Given the description of an element on the screen output the (x, y) to click on. 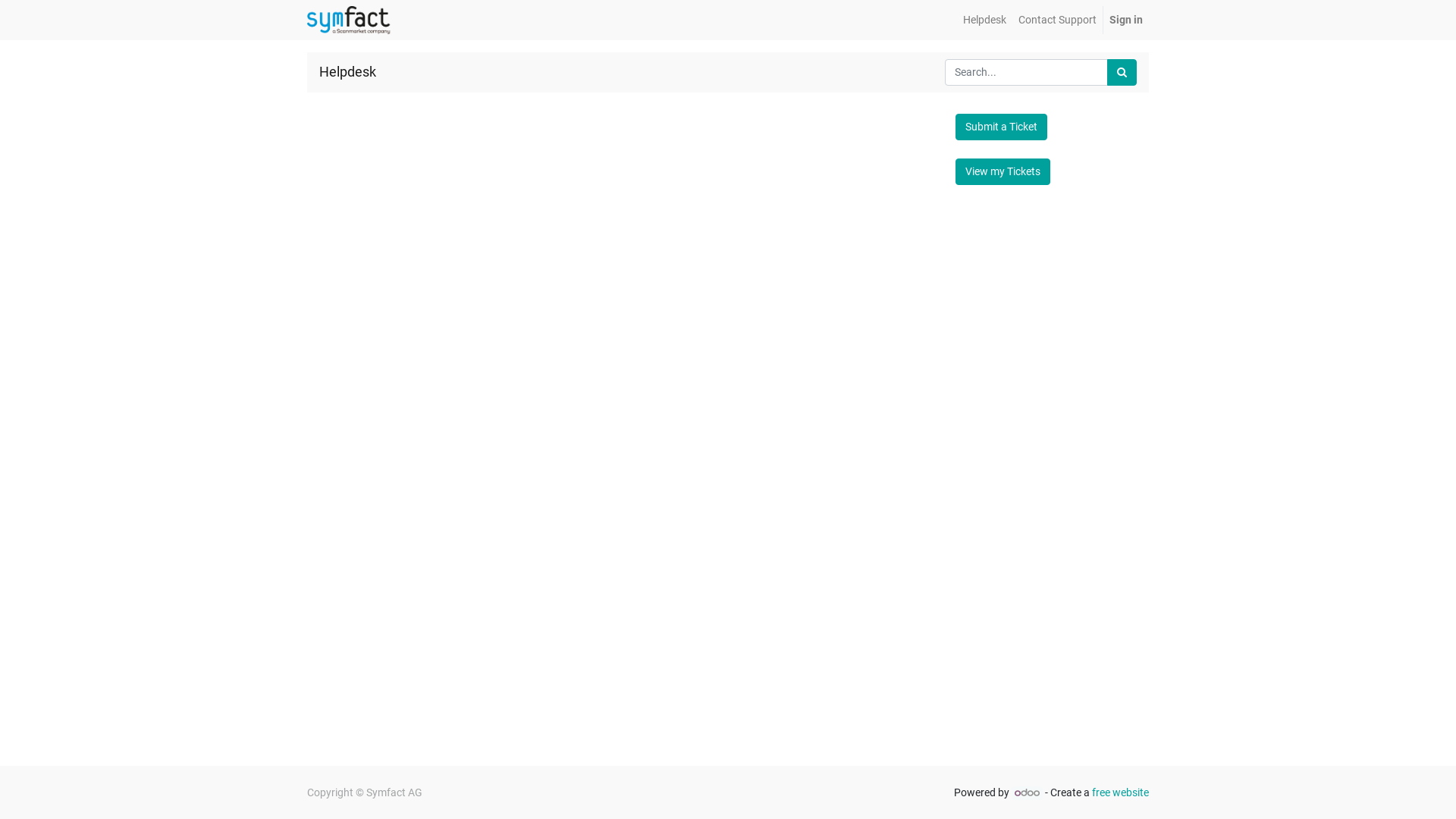
free website Element type: text (1120, 792)
Helpdesk Element type: text (984, 20)
Contact Support Element type: text (1057, 20)
Sign in Element type: text (1125, 20)
Submit a Ticket Element type: text (1001, 126)
Symfact Element type: hover (349, 20)
Search Element type: hover (1121, 72)
View my Tickets Element type: text (1002, 171)
